Given the description of an element on the screen output the (x, y) to click on. 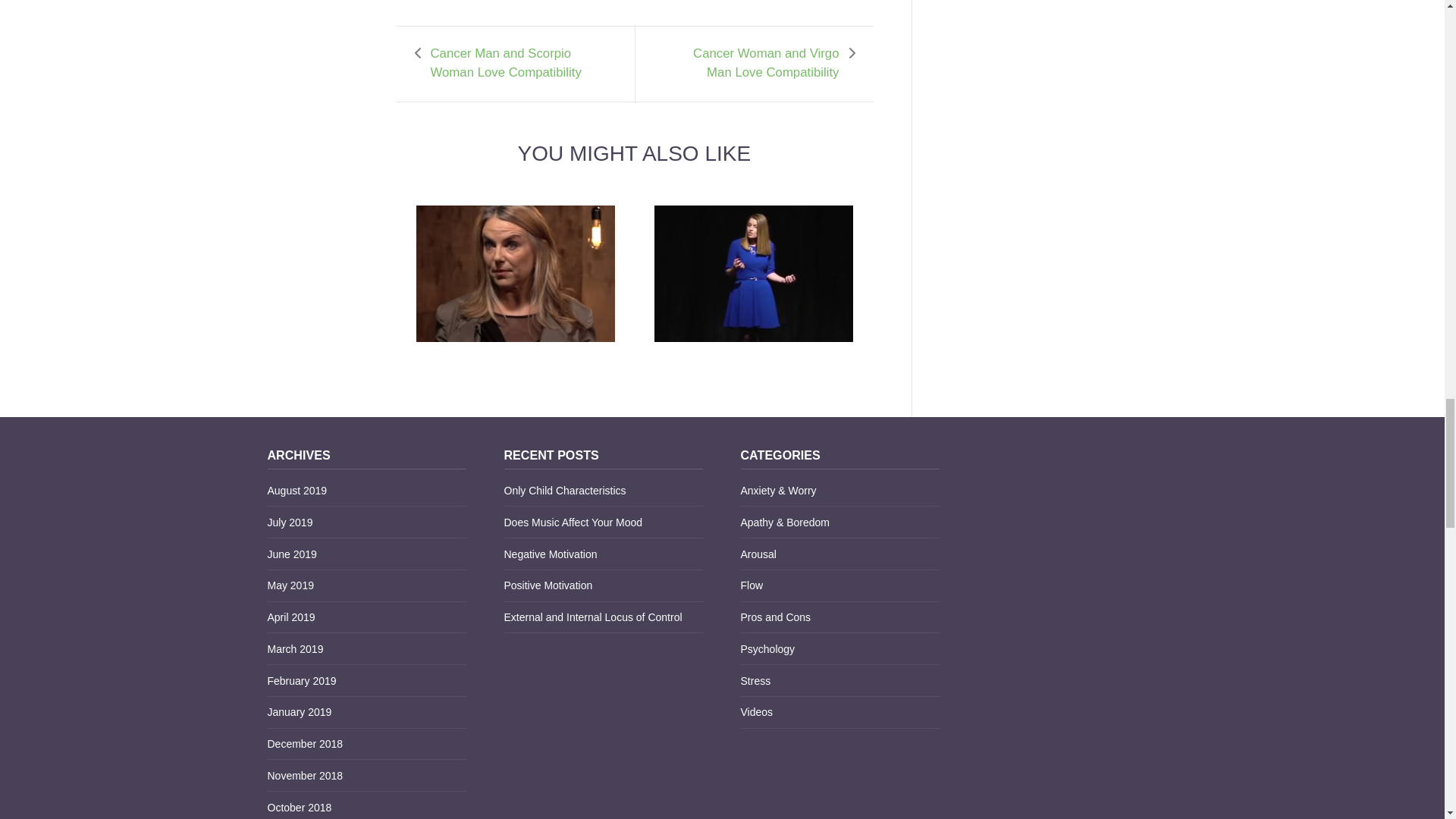
July 2019 (289, 522)
View all posts filed under Videos (756, 711)
View all posts filed under Stress (754, 680)
Cancer Man and Scorpio Woman Love Compatibility (512, 63)
View all posts filed under Psychology (766, 648)
May 2019 (289, 585)
August 2019 (296, 490)
June 2019 (290, 553)
View all posts filed under Pros and Cons (774, 616)
View all posts filed under Flow (750, 585)
Next (757, 63)
Previous (512, 63)
Cancer Woman and Virgo Man Love Compatibility (757, 63)
April 2019 (290, 616)
